Given the description of an element on the screen output the (x, y) to click on. 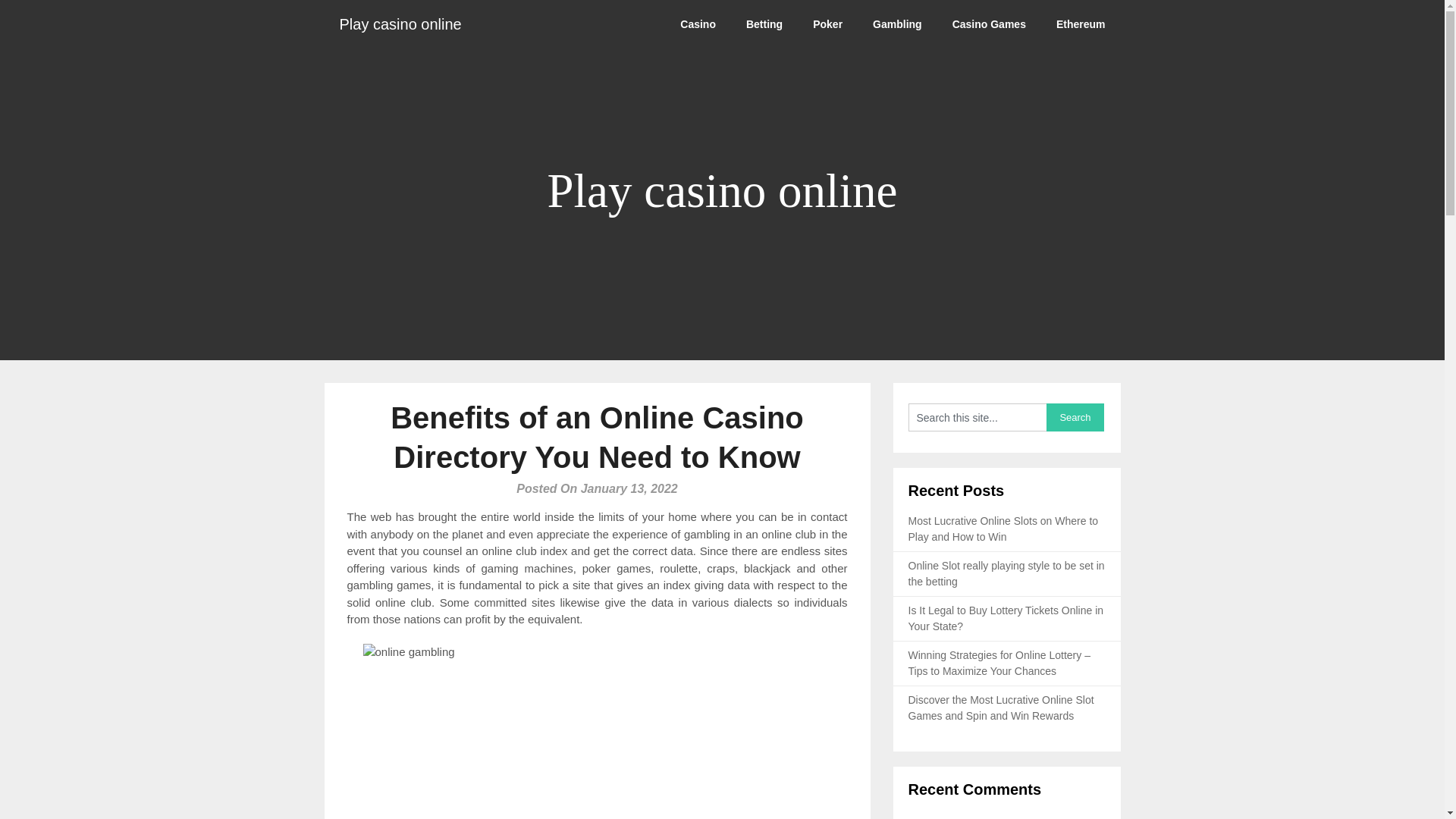
Search (1075, 417)
Gambling (897, 24)
Play casino online (400, 24)
Search this site... (977, 417)
Most Lucrative Online Slots on Where to Play and How to Win (1003, 528)
Casino (697, 24)
Casino Games (989, 24)
Is It Legal to Buy Lottery Tickets Online in Your State? (1005, 618)
Betting (763, 24)
